Given the description of an element on the screen output the (x, y) to click on. 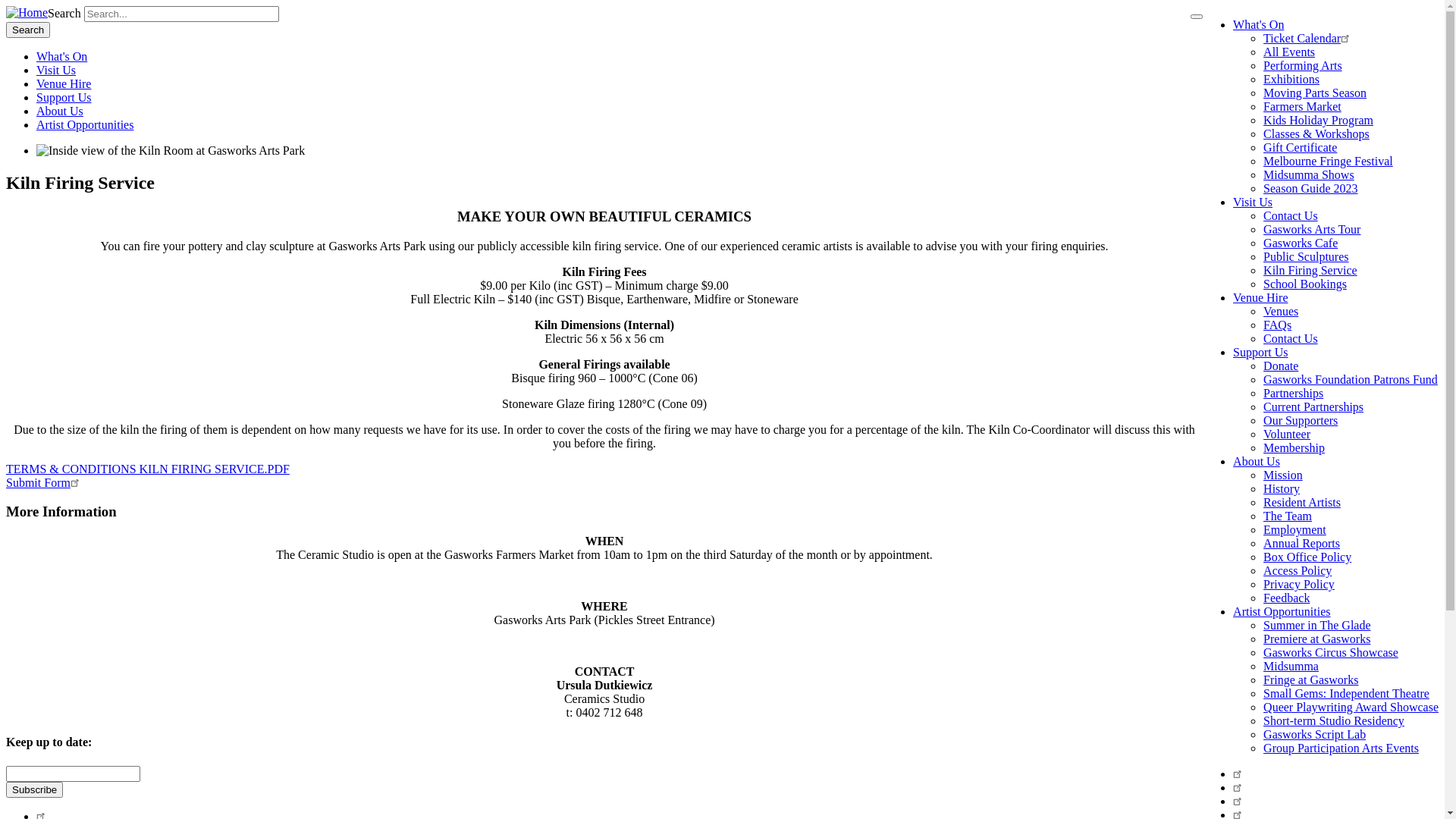
School Bookings Element type: text (1304, 283)
Gasworks Arts Tour Element type: text (1311, 228)
Premiere at Gasworks Element type: text (1316, 638)
Annual Reports Element type: text (1301, 542)
Visit Us Element type: text (55, 69)
Volunteer Element type: text (1286, 433)
Gift Certificate Element type: text (1299, 147)
Skip to main content Element type: text (6, 6)
What's On Element type: text (1258, 24)
Artist Opportunities Element type: text (1281, 611)
Venue Hire Element type: text (1260, 297)
Feedback Element type: text (1286, 597)
Exhibitions Element type: text (1291, 78)
Donate Element type: text (1280, 365)
Queer Playwriting Award Showcase Element type: text (1350, 706)
History Element type: text (1281, 488)
Group Participation Arts Events Element type: text (1340, 747)
Membership Element type: text (1293, 447)
Kiln Firing Service Element type: text (1310, 269)
Gasworks Script Lab Element type: text (1314, 734)
What's On Element type: text (61, 56)
Public Sculptures Element type: text (1305, 256)
Twitter
(link is external) Element type: text (1239, 787)
Contact Us Element type: text (1290, 338)
Partnerships Element type: text (1293, 392)
Resident Artists Element type: text (1301, 501)
TERMS & CONDITIONS KILN FIRING SERVICE.PDF Element type: text (147, 468)
Support Us Element type: text (63, 97)
The Team Element type: text (1287, 515)
Season Guide 2023 Element type: text (1310, 188)
Kids Holiday Program Element type: text (1318, 119)
Venue Hire Element type: text (63, 83)
Farmers Market Element type: text (1302, 106)
Midsumma Element type: text (1290, 665)
Gasworks Circus Showcase Element type: text (1330, 652)
Home Element type: hover (26, 12)
Visit Us Element type: text (1252, 201)
Midsumma Shows Element type: text (1308, 174)
Mission Element type: text (1282, 474)
Current Partnerships Element type: text (1313, 406)
Subscribe Element type: text (34, 789)
Instagram
(link is external) Element type: text (1239, 800)
Classes & Workshops Element type: text (1316, 133)
Contact Us Element type: text (1290, 215)
Access Policy Element type: text (1297, 570)
FAQs Element type: text (1277, 324)
Short-term Studio Residency Element type: text (1333, 720)
Support Us Element type: text (1260, 351)
Artist Opportunities Element type: text (84, 124)
Menu Element type: text (1196, 16)
Venues Element type: text (1280, 310)
Our Supporters Element type: text (1300, 420)
Submit Form(link is external) Element type: text (44, 482)
Gasworks Cafe Element type: text (1300, 242)
Ticket Calendar(link is external) Element type: text (1308, 37)
About Us Element type: text (1256, 461)
All Events Element type: text (1288, 51)
Facebook
(link is external) Element type: text (1239, 773)
Box Office Policy Element type: text (1307, 556)
Melbourne Fringe Festival Element type: text (1328, 160)
Search Element type: text (28, 29)
About Us Element type: text (59, 110)
Employment Element type: text (1294, 529)
Gasworks Foundation Patrons Fund Element type: text (1350, 379)
Fringe at Gasworks Element type: text (1310, 679)
Privacy Policy Element type: text (1298, 583)
Small Gems: Independent Theatre Element type: text (1346, 693)
Summer in The Glade Element type: text (1316, 624)
Moving Parts Season Element type: text (1314, 92)
Performing Arts Element type: text (1302, 65)
